Given the description of an element on the screen output the (x, y) to click on. 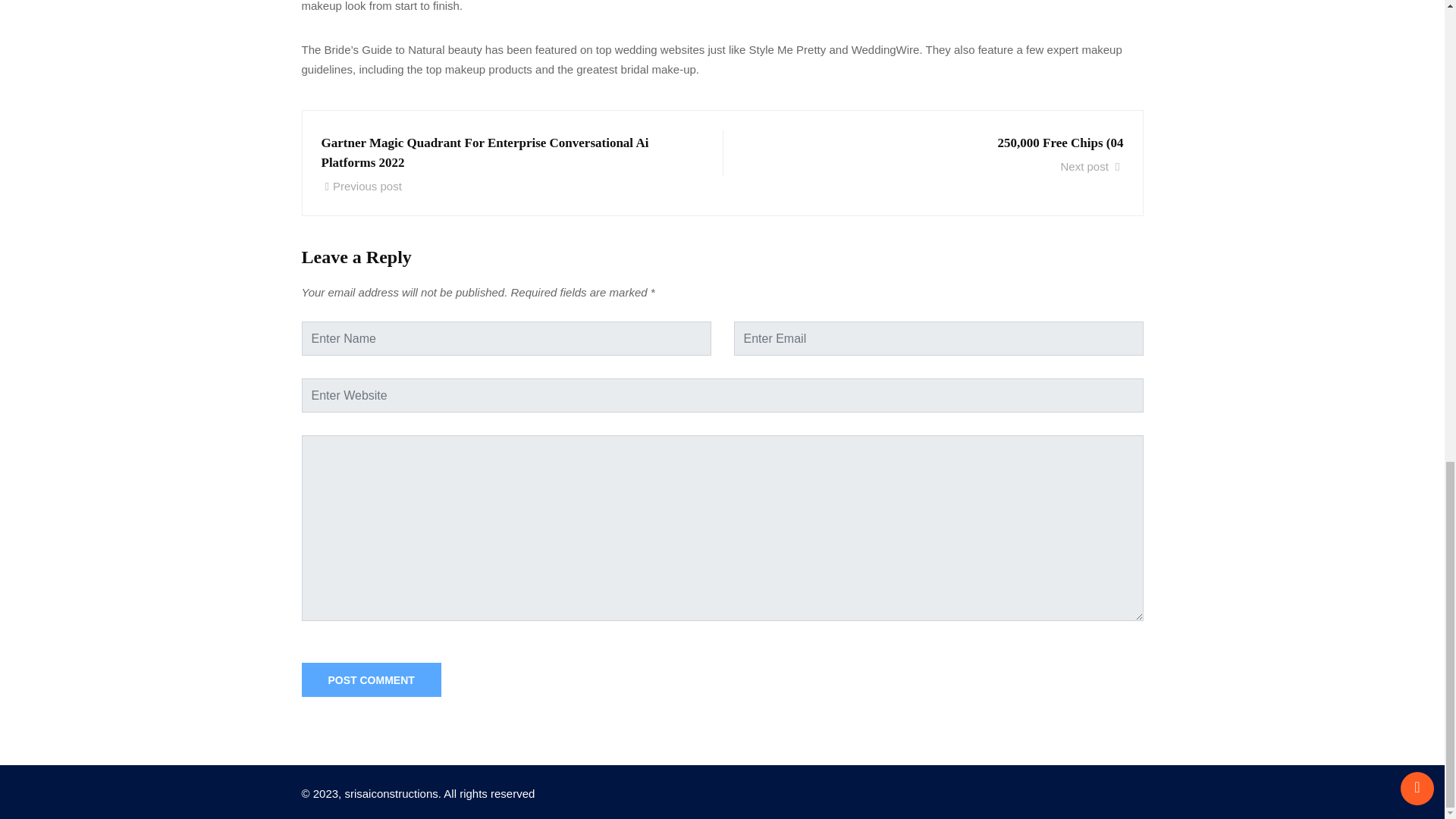
Post Comment (371, 679)
Post Comment (371, 679)
